Given the description of an element on the screen output the (x, y) to click on. 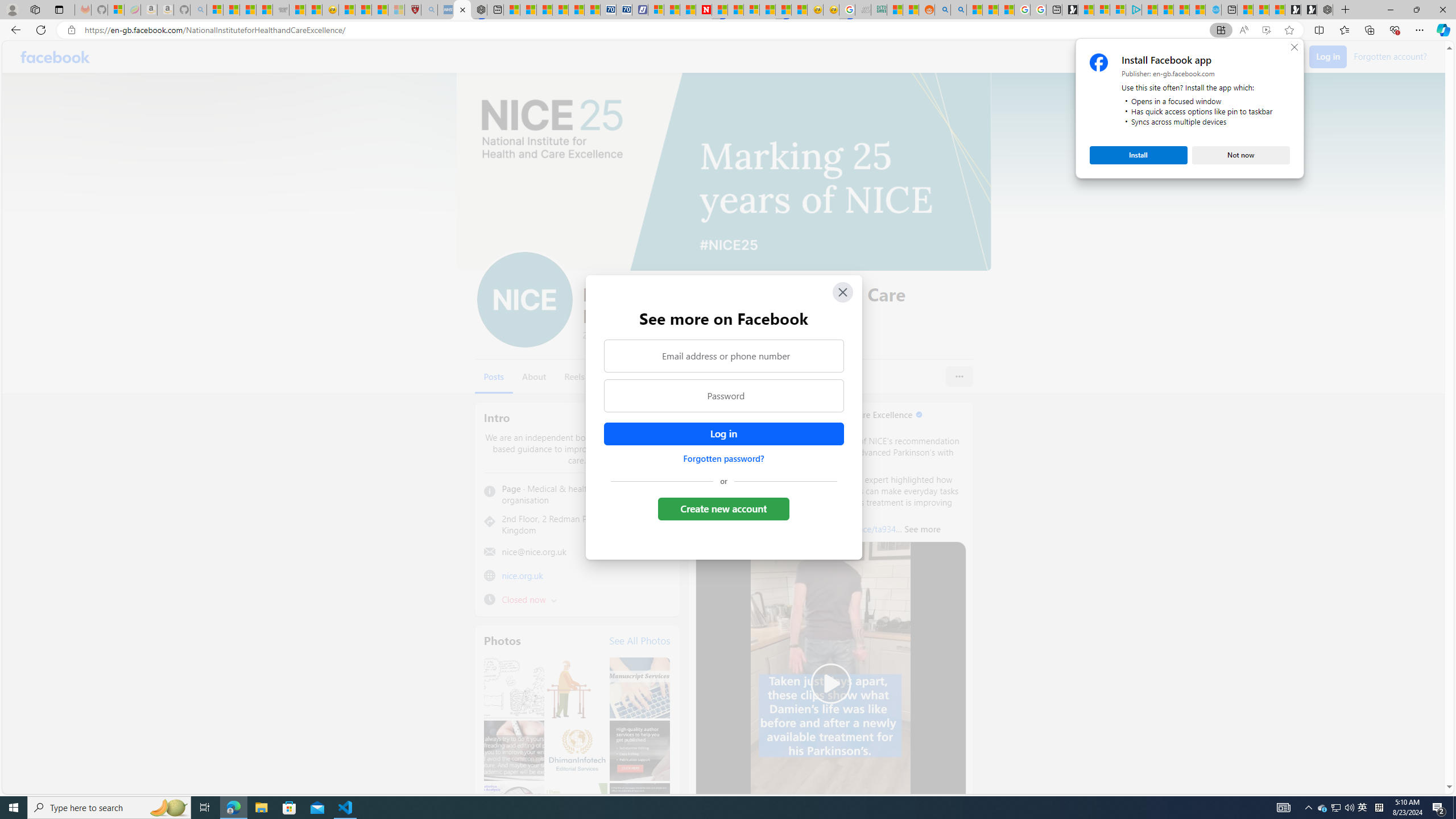
12 Popular Science Lies that Must be Corrected - Sleeping (395, 9)
Not now (1241, 154)
Password (1322, 807)
Newsweek - News, Analysis, Politics, Business, Technology (723, 395)
